Given the description of an element on the screen output the (x, y) to click on. 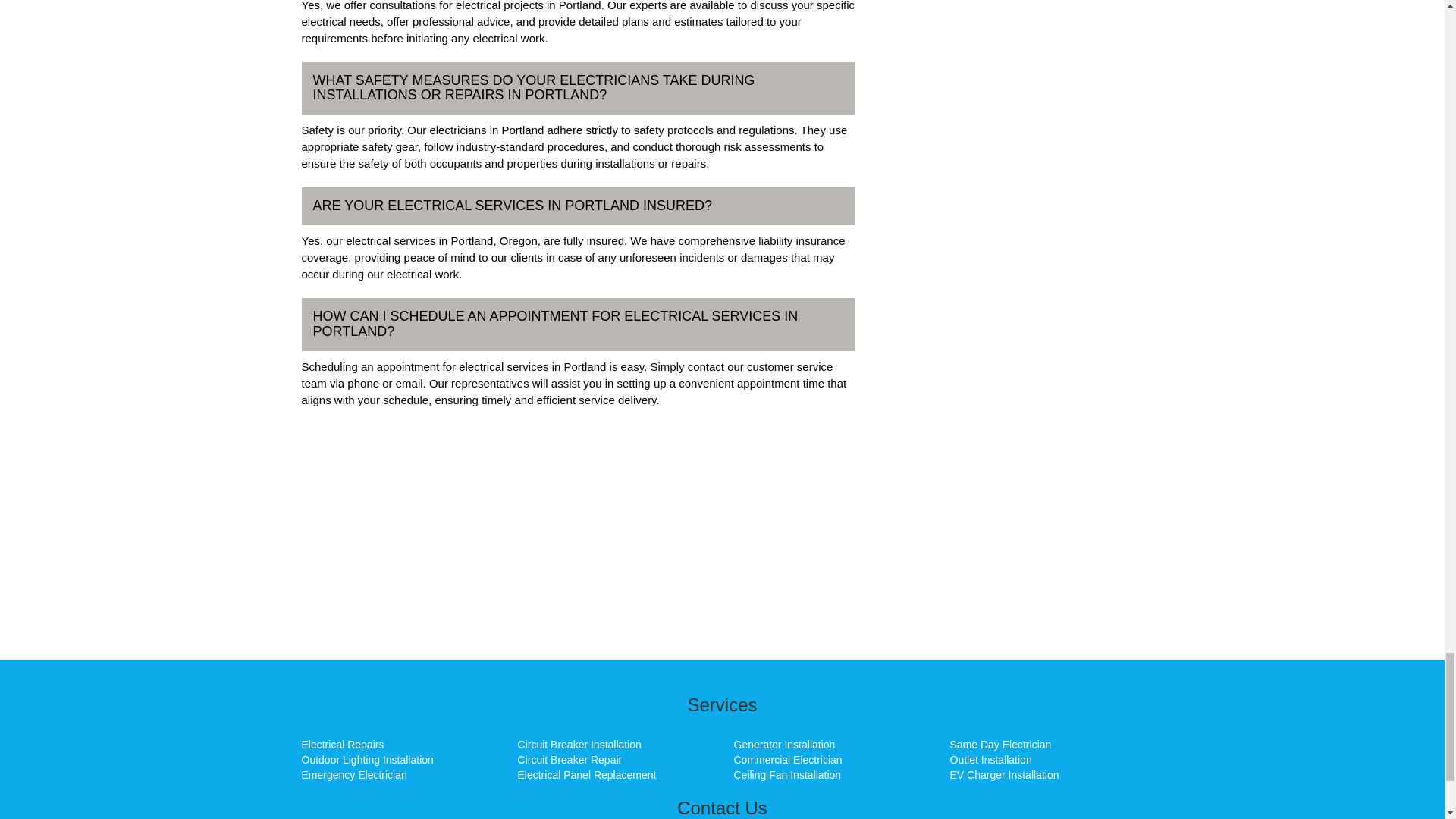
Electrical Panel Replacement (586, 775)
Ceiling Fan Installation (787, 775)
Generator Installation (784, 744)
Circuit Breaker Installation (578, 744)
Outdoor Lighting Installation (367, 759)
Circuit Breaker Repair (568, 759)
Electrical Repairs (342, 744)
Same Day Electrician (1000, 744)
Emergency Electrician (354, 775)
Commercial Electrician (788, 759)
